Given the description of an element on the screen output the (x, y) to click on. 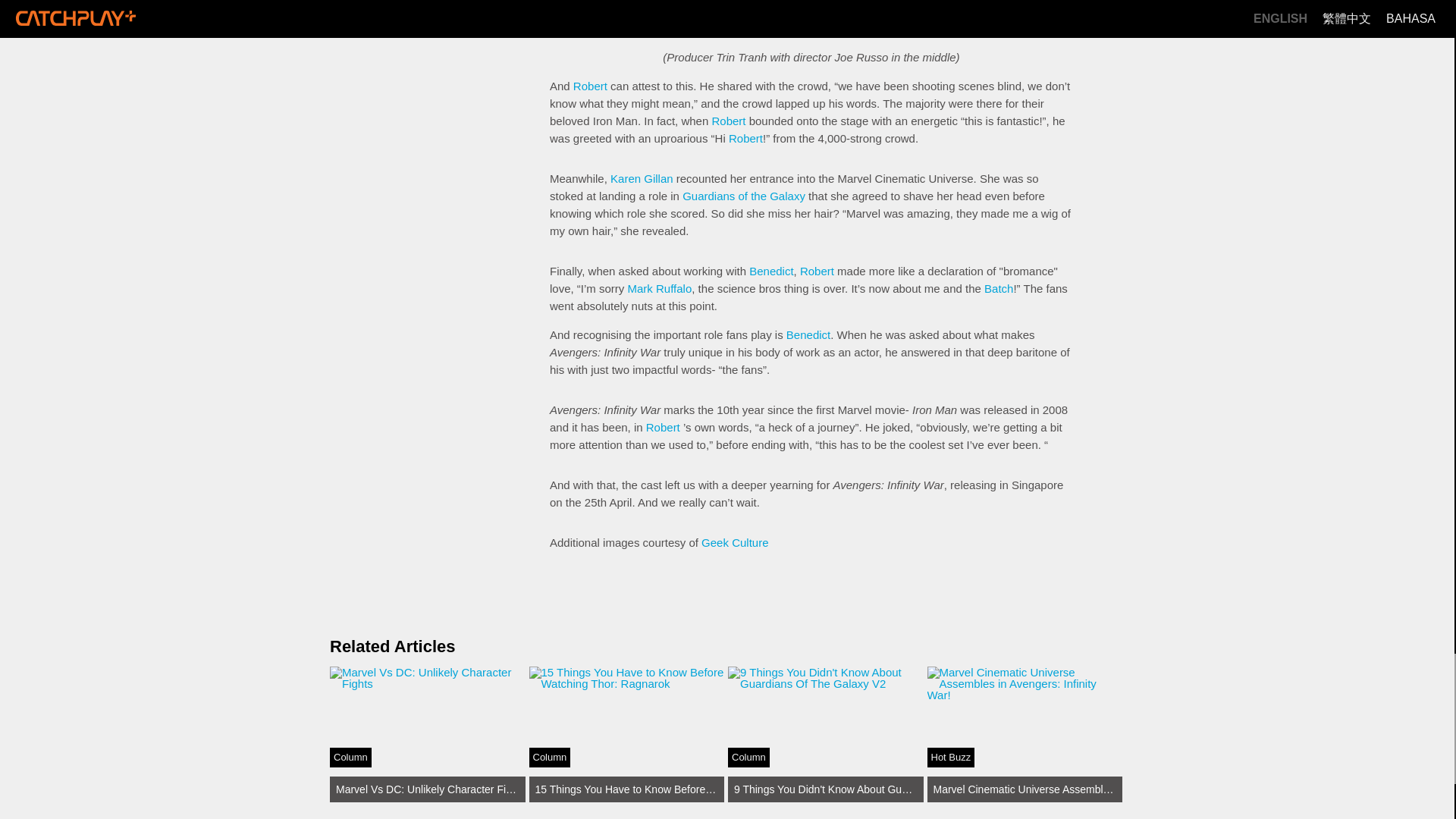
Guardians of the Galaxy (743, 195)
Robert (745, 137)
Batch (998, 287)
Mark Ruffalo (660, 287)
Karen Gillan (641, 178)
Robert (728, 120)
Benedict (807, 334)
Russo (427, 734)
Robert (755, 2)
